Given the description of an element on the screen output the (x, y) to click on. 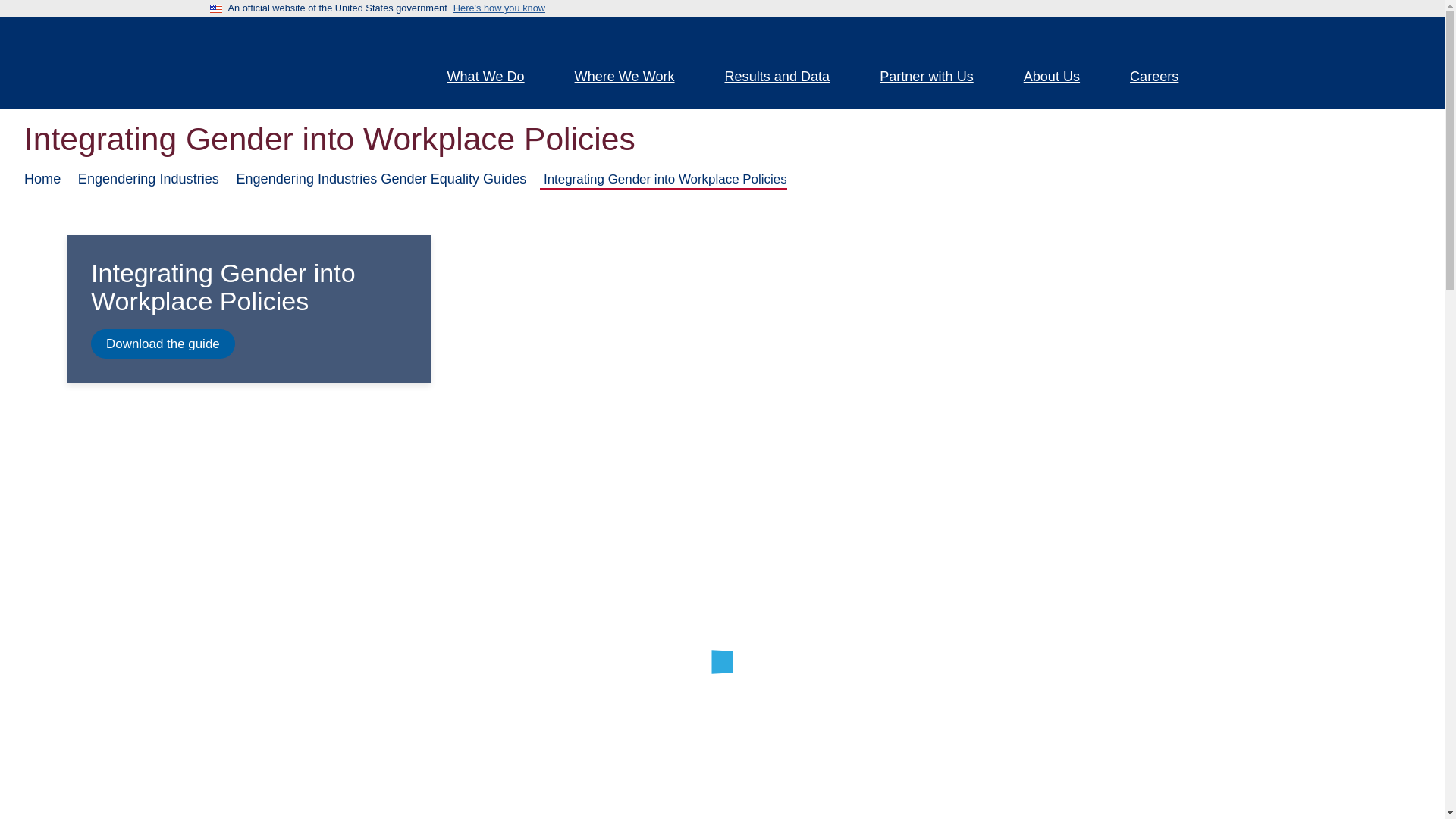
Results and Data (786, 78)
What We Do (493, 78)
Here's how you know (498, 8)
About Us (1060, 78)
Engendering Industries Gender Equality Guides (380, 178)
Home (42, 178)
Download the guide (162, 343)
Home (304, 62)
Careers (1162, 78)
Engendering Industries (148, 178)
Partner with Us (935, 78)
Where We Work (634, 78)
